Given the description of an element on the screen output the (x, y) to click on. 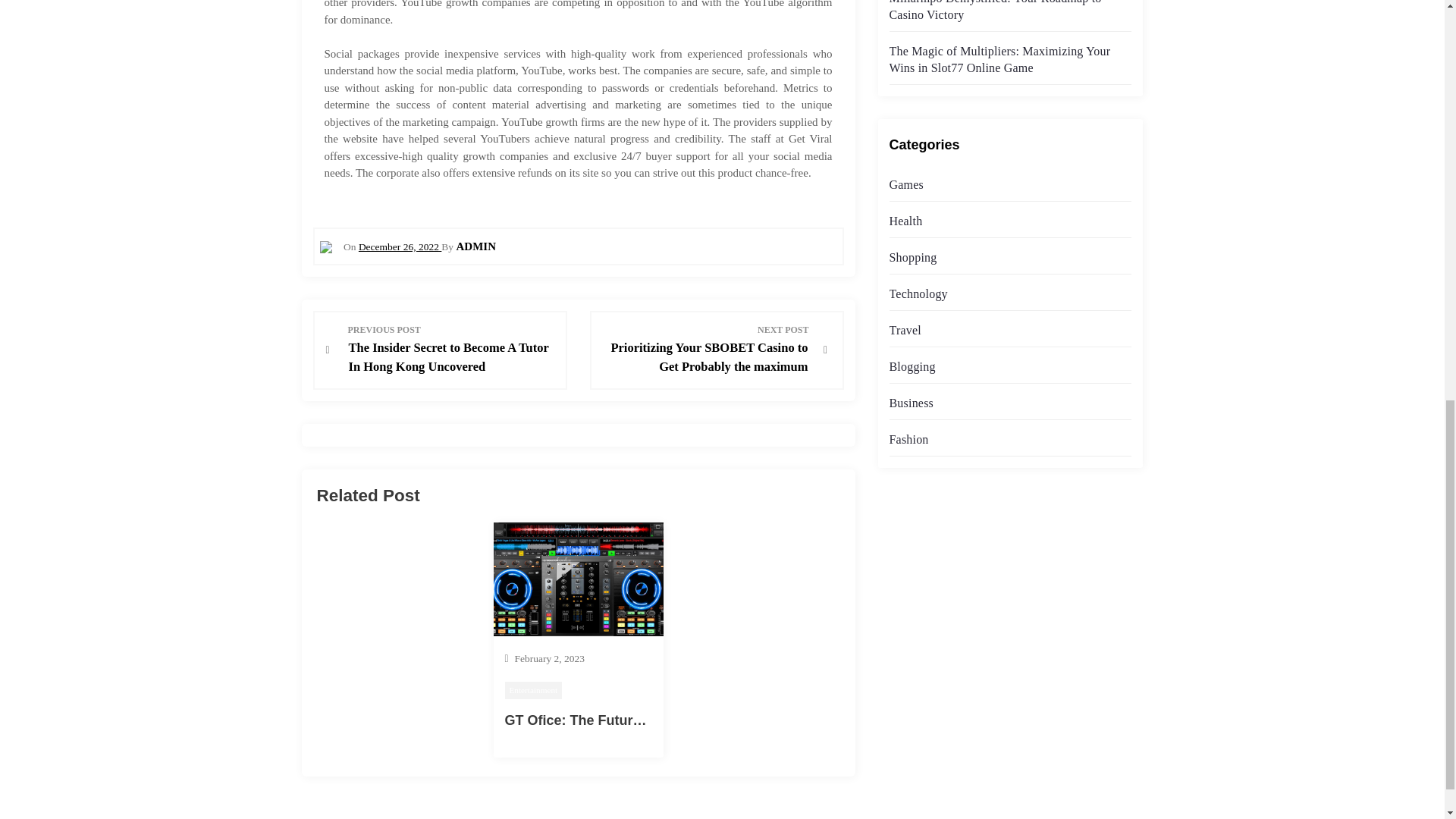
December 26, 2022 (399, 246)
Miliarmpo Demystified: Your Roadmap to Casino Victory (994, 10)
Games (905, 184)
Health (904, 220)
ADMIN (475, 246)
Entertainment (533, 690)
